Given the description of an element on the screen output the (x, y) to click on. 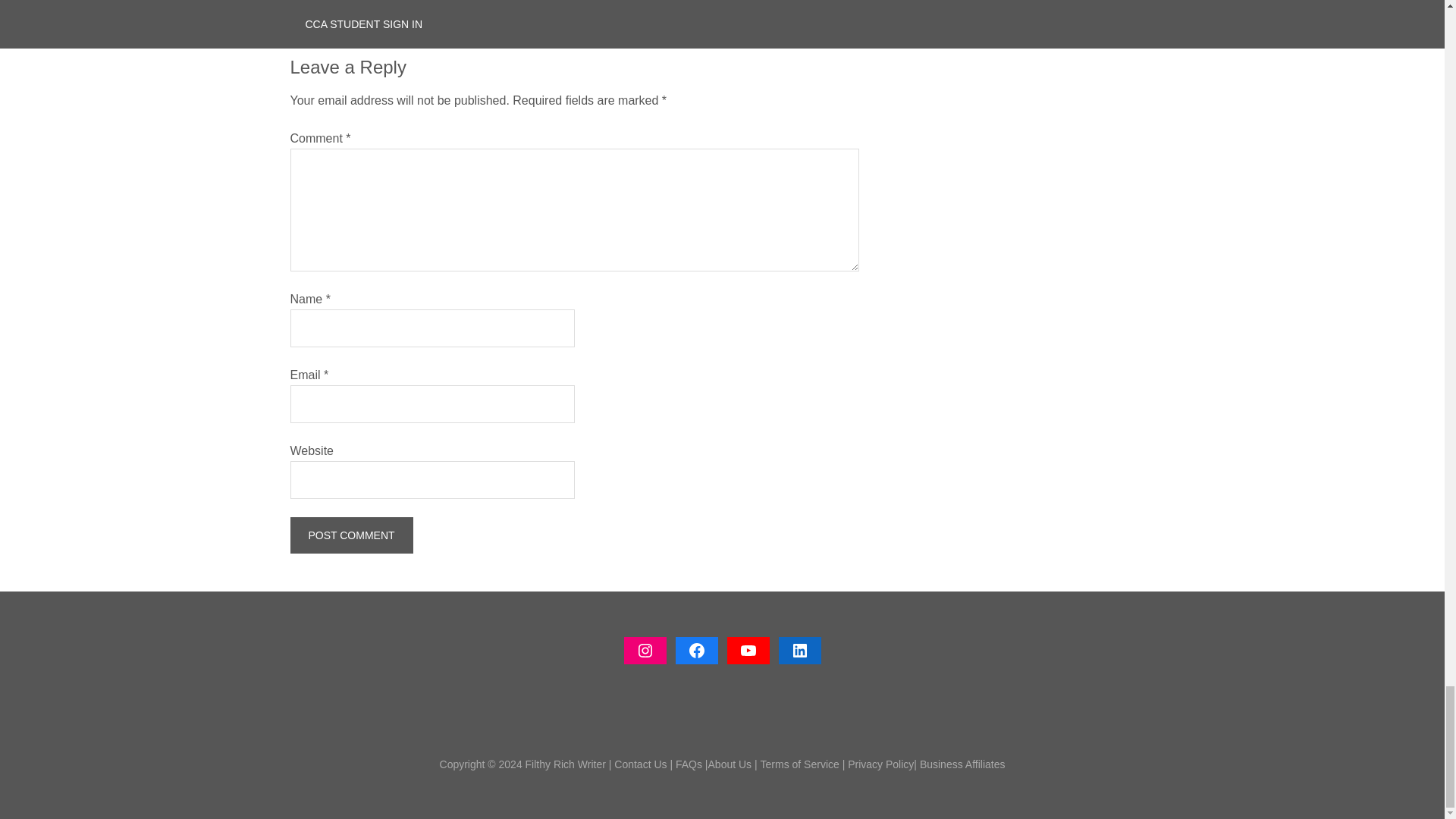
Post Comment (350, 534)
